Given the description of an element on the screen output the (x, y) to click on. 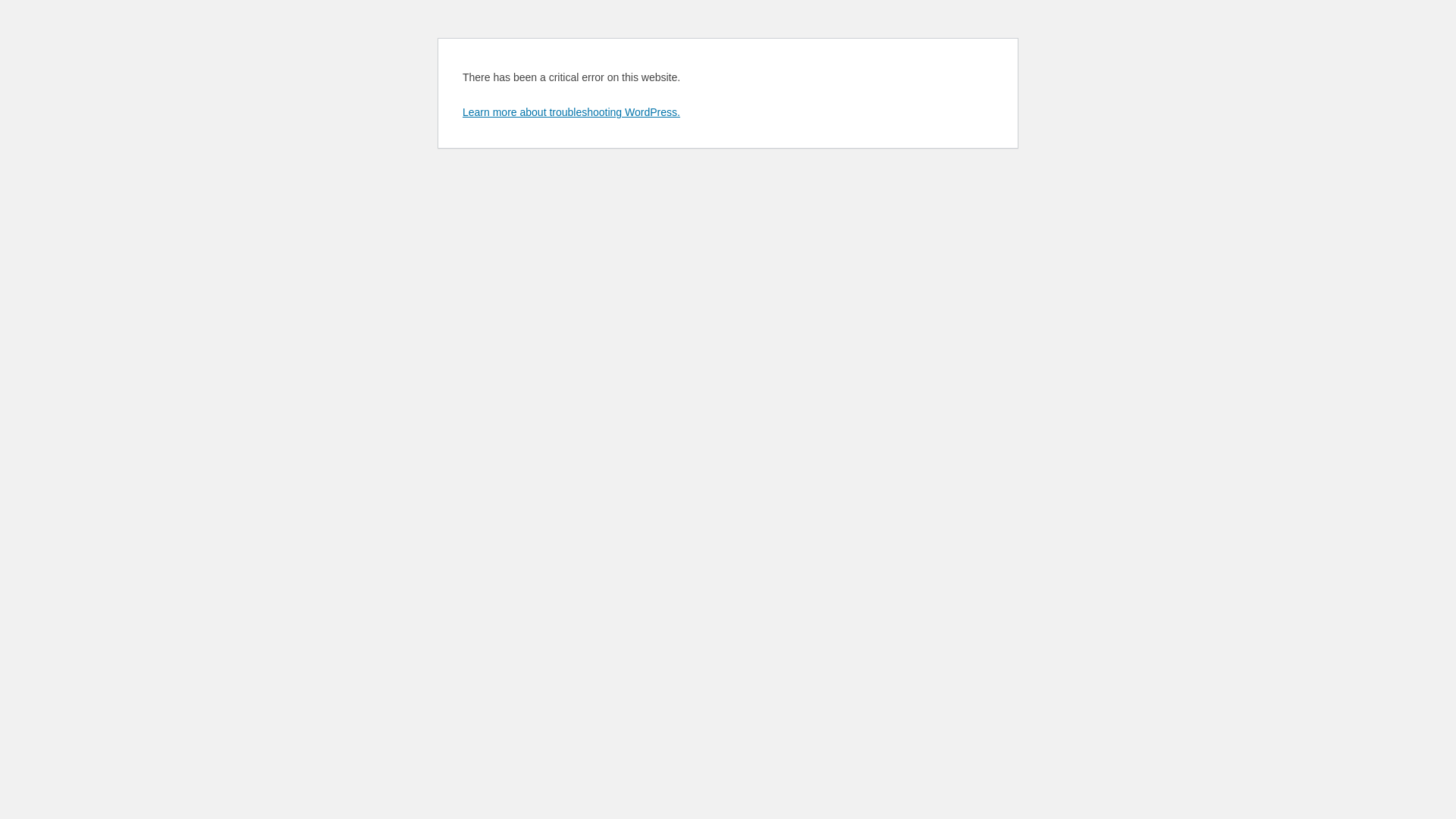
Learn more about troubleshooting WordPress. Element type: text (571, 112)
